Given the description of an element on the screen output the (x, y) to click on. 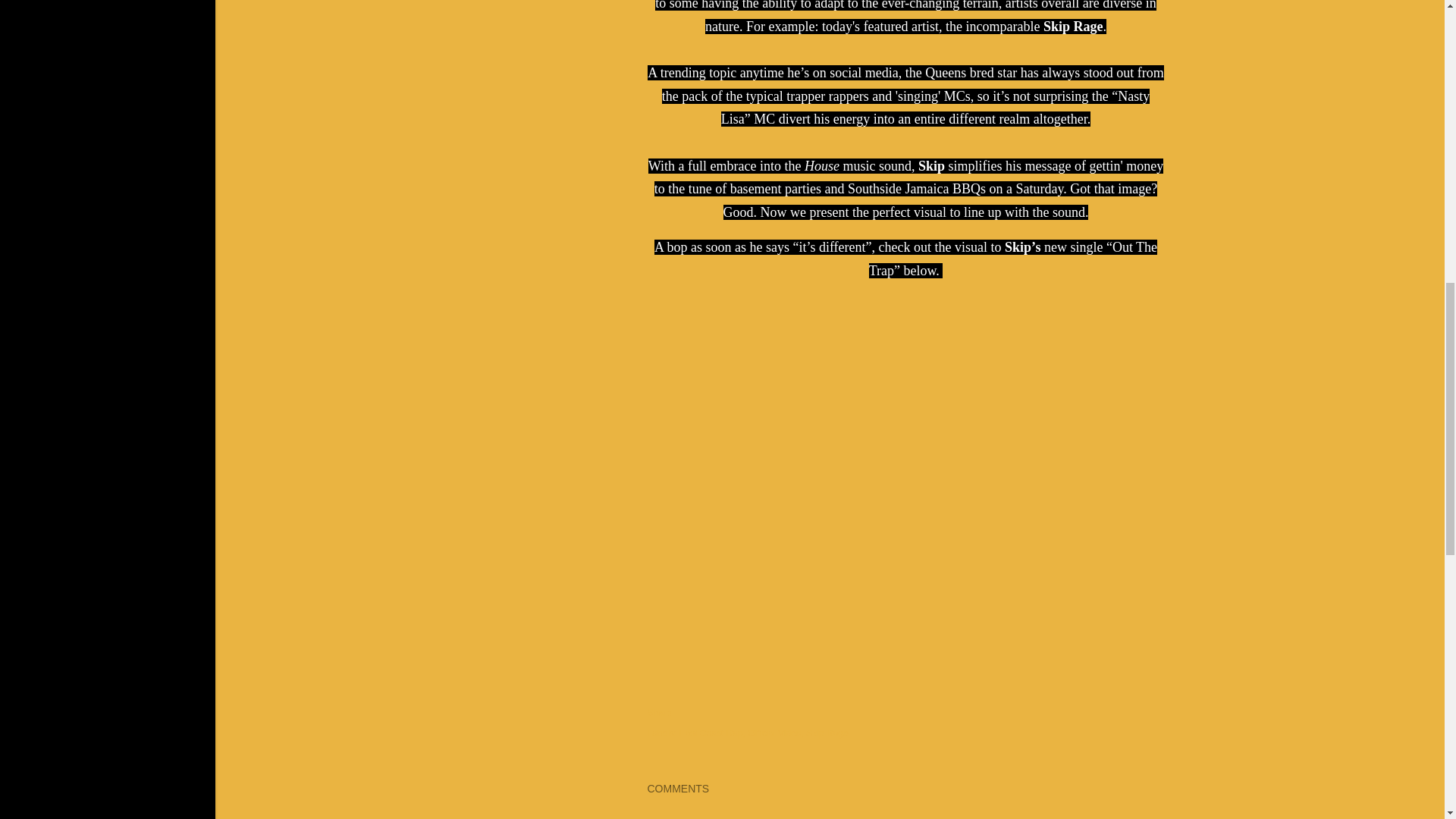
Skip Rage (826, 733)
Official Video (775, 733)
Share (659, 712)
East Coast Rap (712, 733)
